Given the description of an element on the screen output the (x, y) to click on. 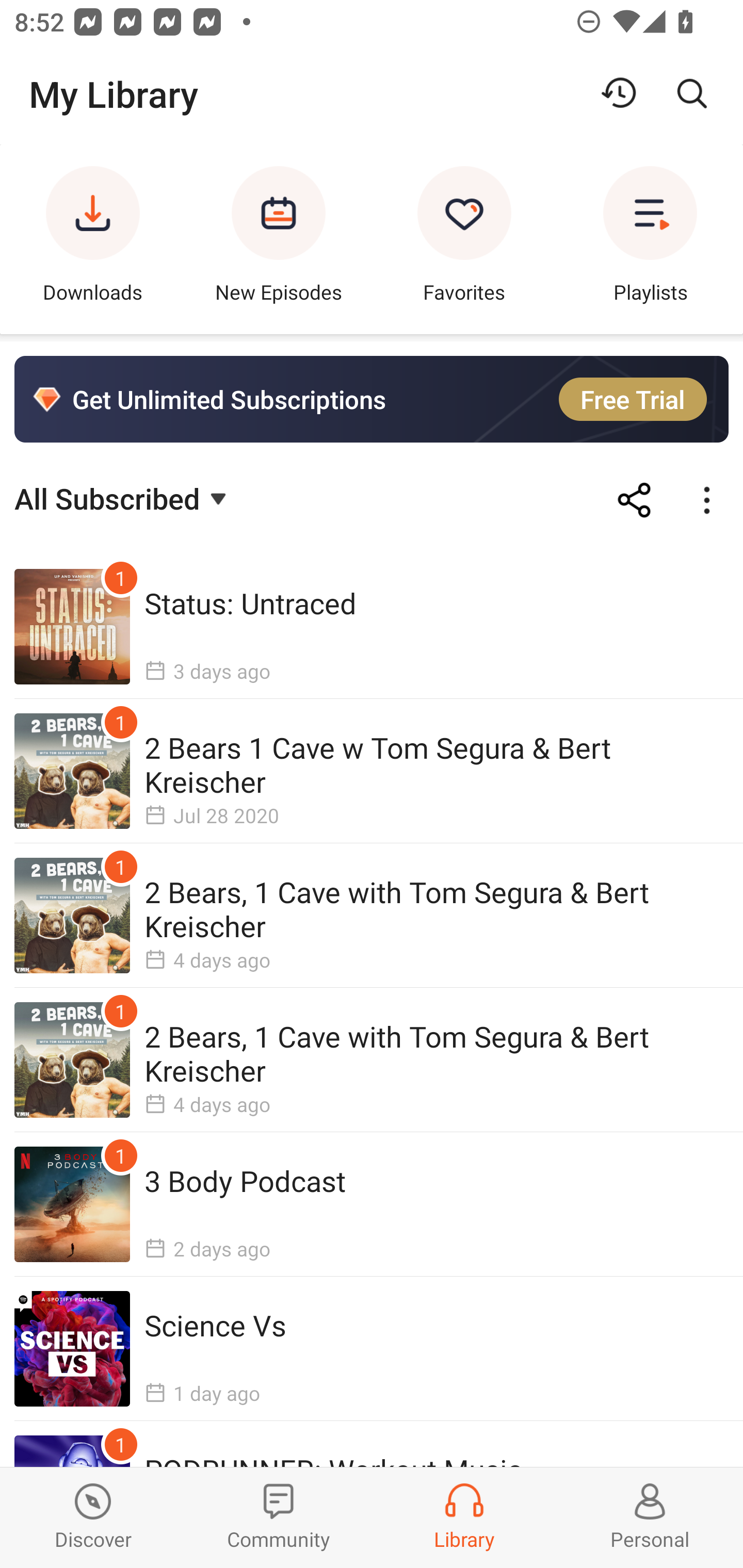
Downloads (92, 238)
New Episodes (278, 238)
Favorites (464, 238)
Playlists (650, 238)
Get Unlimited Subscriptions Free Trial (371, 398)
Free Trial (632, 398)
All Subscribed (123, 497)
Status: Untraced 1 Status: Untraced  3 days ago (371, 627)
3 Body Podcast 1 3 Body Podcast  2 days ago (371, 1204)
Science Vs Science Vs  1 day ago (371, 1348)
Discover (92, 1517)
Community (278, 1517)
Library (464, 1517)
Profiles and Settings Personal (650, 1517)
